Given the description of an element on the screen output the (x, y) to click on. 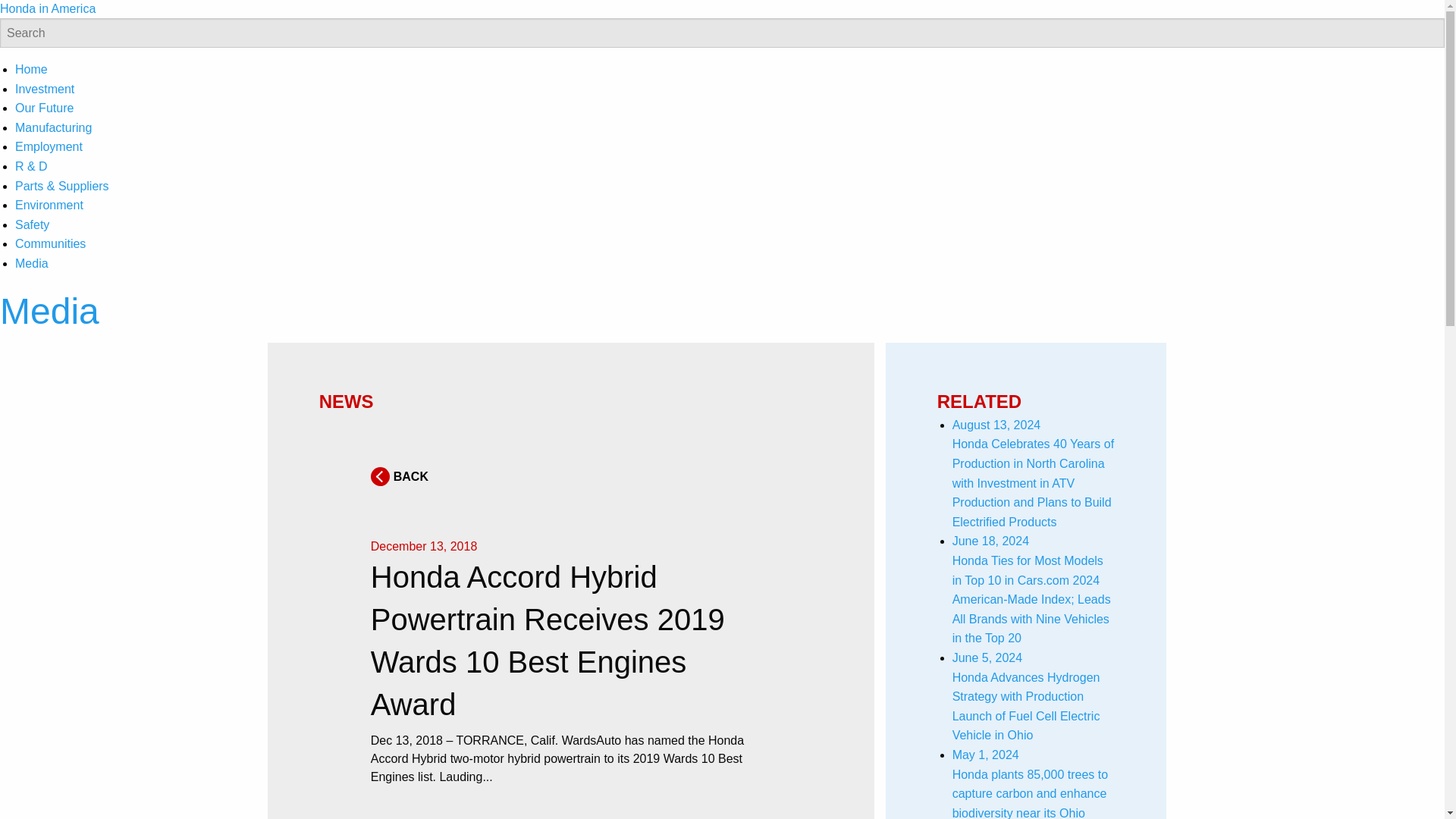
Home (31, 69)
Manufacturing (52, 127)
Investment (44, 88)
Communities (49, 243)
BACK (399, 476)
Honda in America (48, 8)
Safety (31, 224)
